Given the description of an element on the screen output the (x, y) to click on. 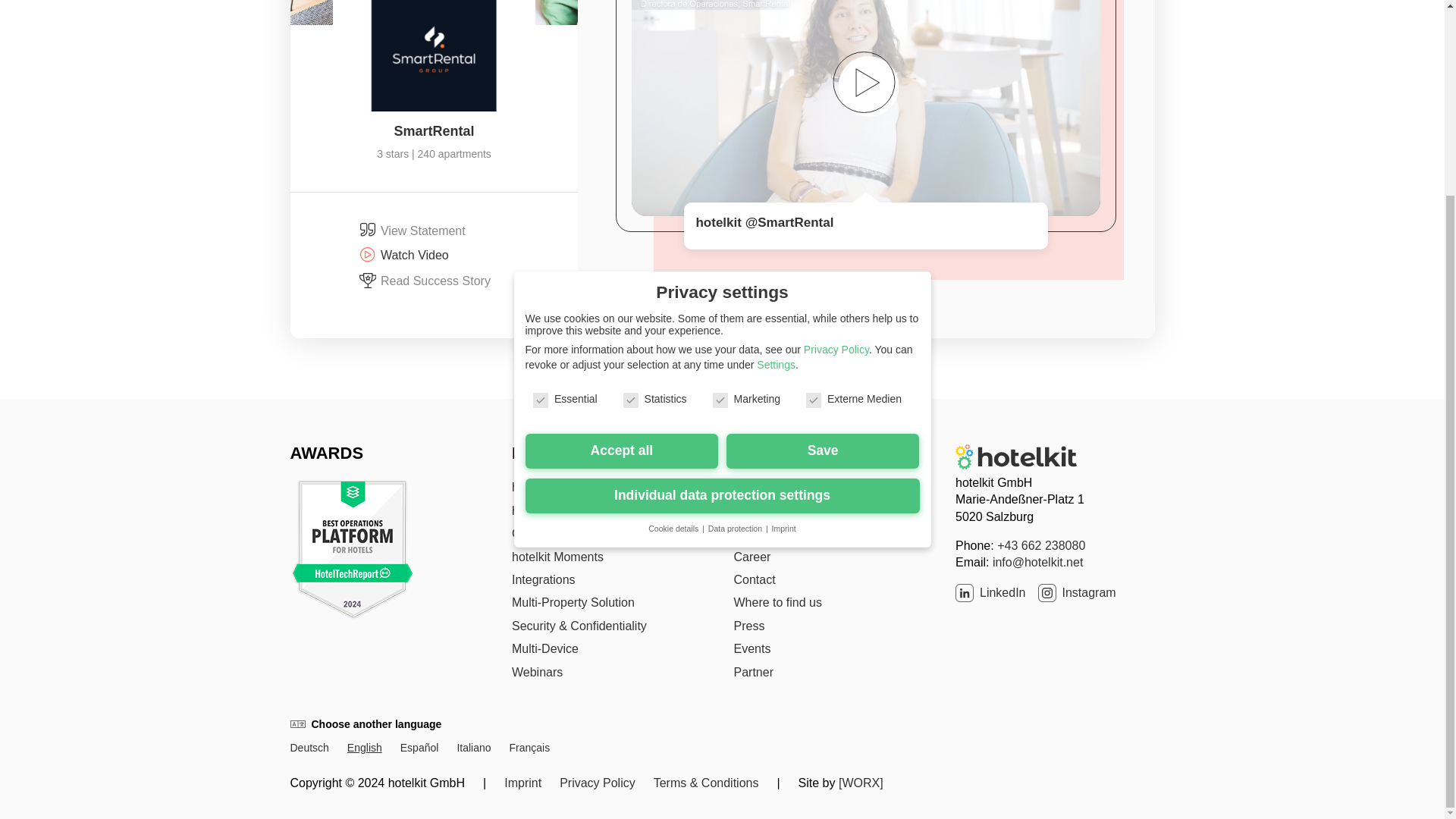
Chat (524, 533)
hotelkit Moments (558, 556)
Multi-Property Solution (573, 602)
hotelkit Collaboration (568, 486)
hotelkit Housekeeping (571, 510)
SmartRental (433, 130)
Integrations (543, 579)
Video laden (866, 89)
Mehr erfahren (865, 61)
1 (808, 118)
